Given the description of an element on the screen output the (x, y) to click on. 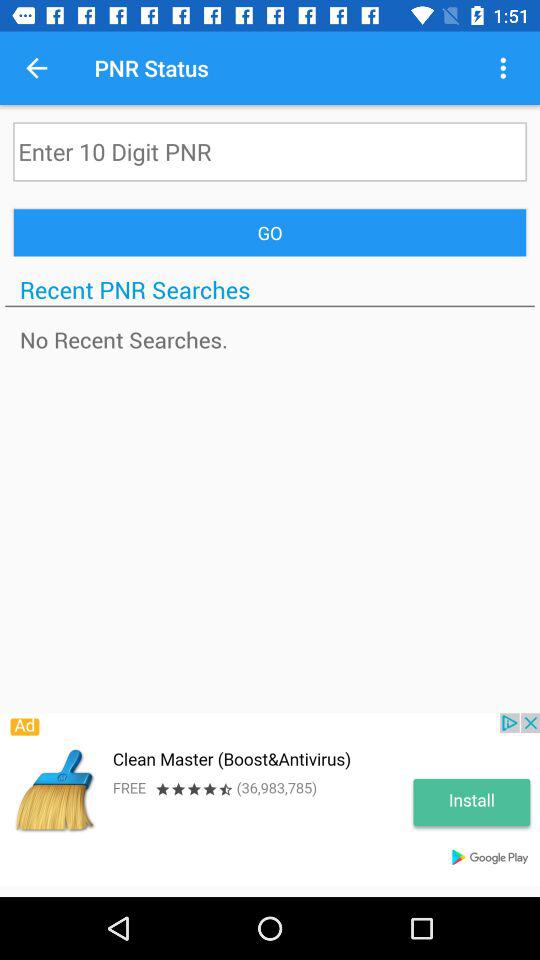
advertisement software display (270, 799)
